Given the description of an element on the screen output the (x, y) to click on. 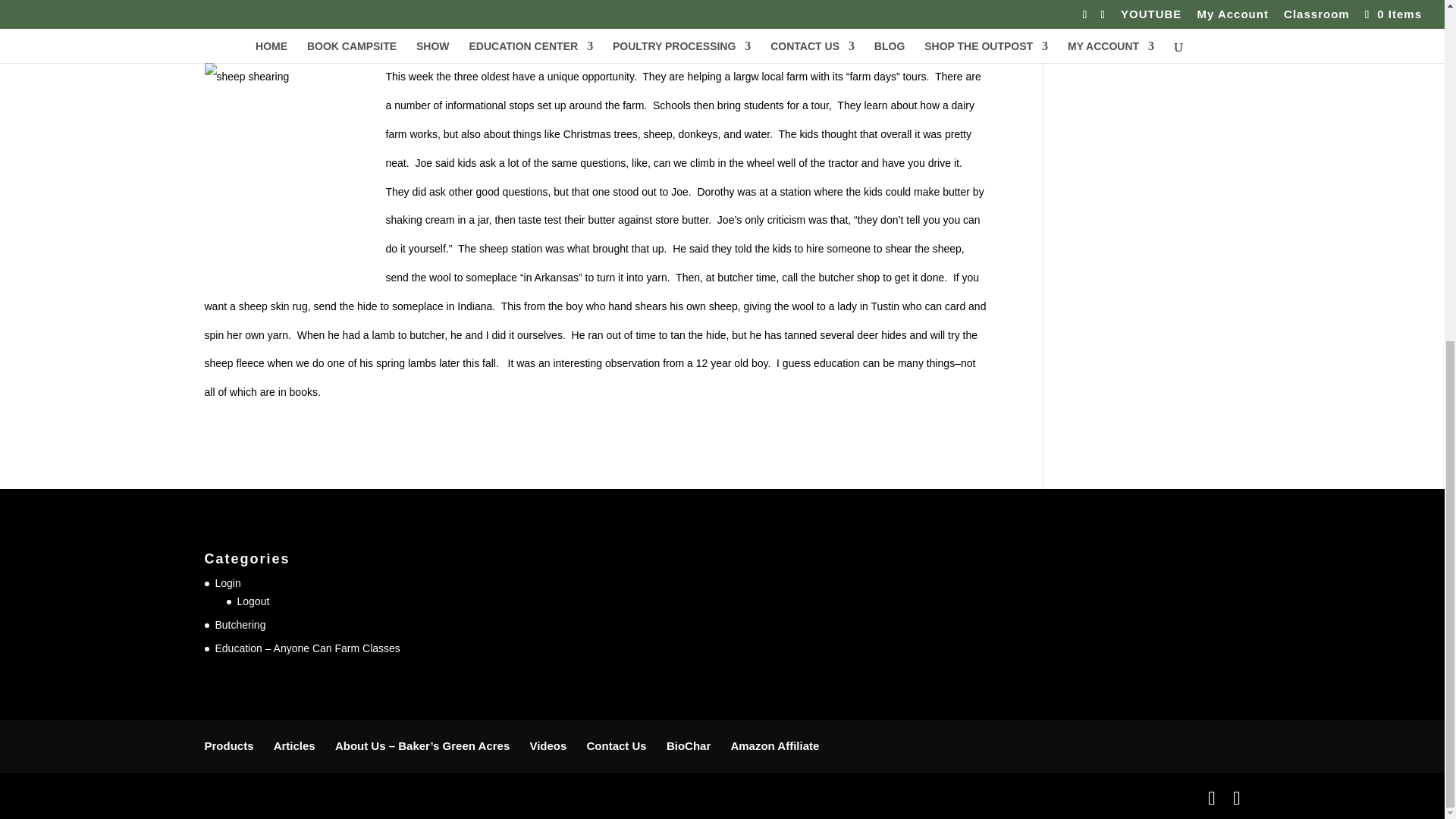
Login (228, 582)
Logout (252, 601)
